Given the description of an element on the screen output the (x, y) to click on. 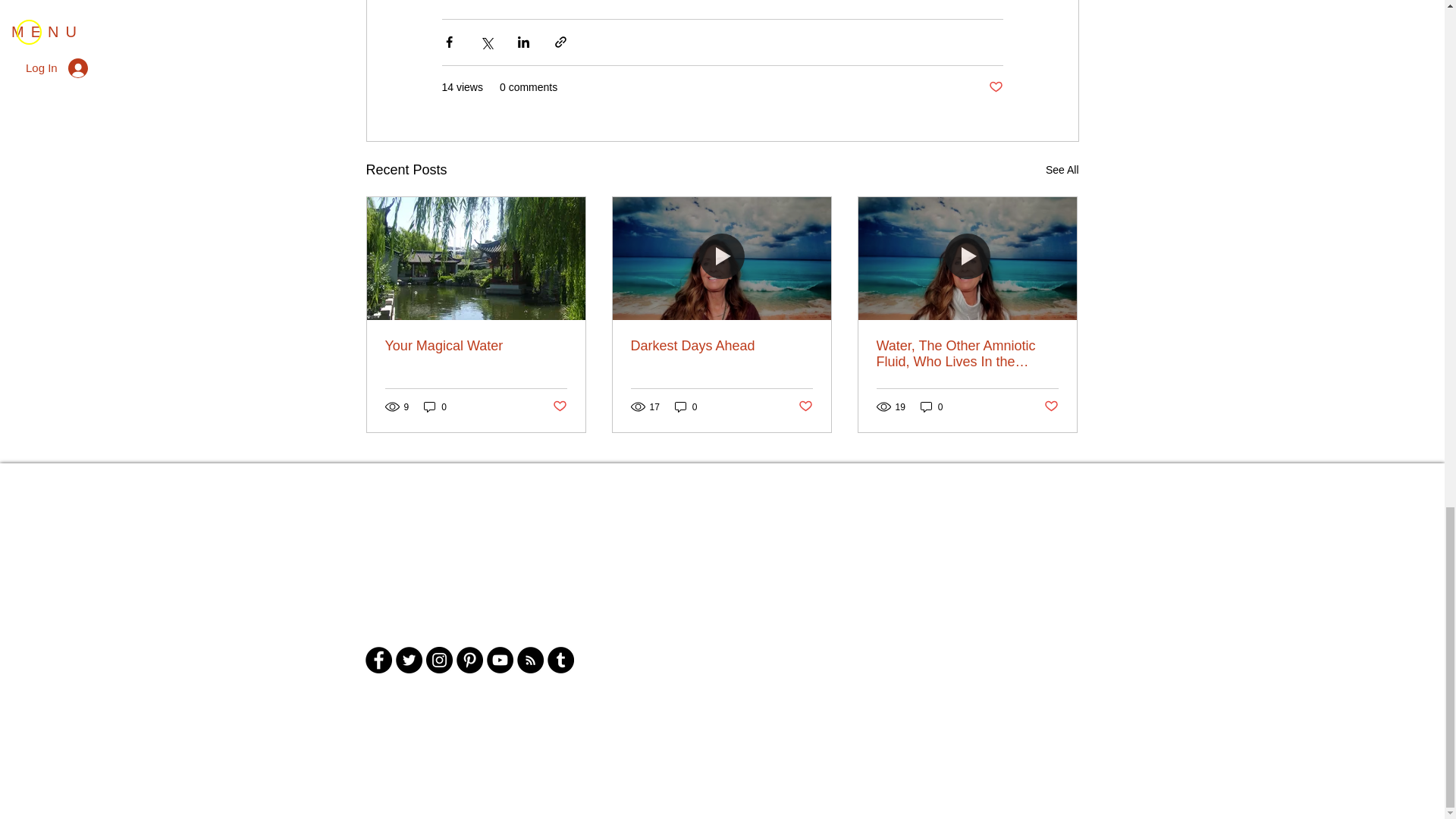
See All (1061, 169)
Your Magical Water (476, 345)
Darkest Days Ahead (721, 345)
0 (435, 406)
Post not marked as liked (995, 87)
Post not marked as liked (558, 406)
